Given the description of an element on the screen output the (x, y) to click on. 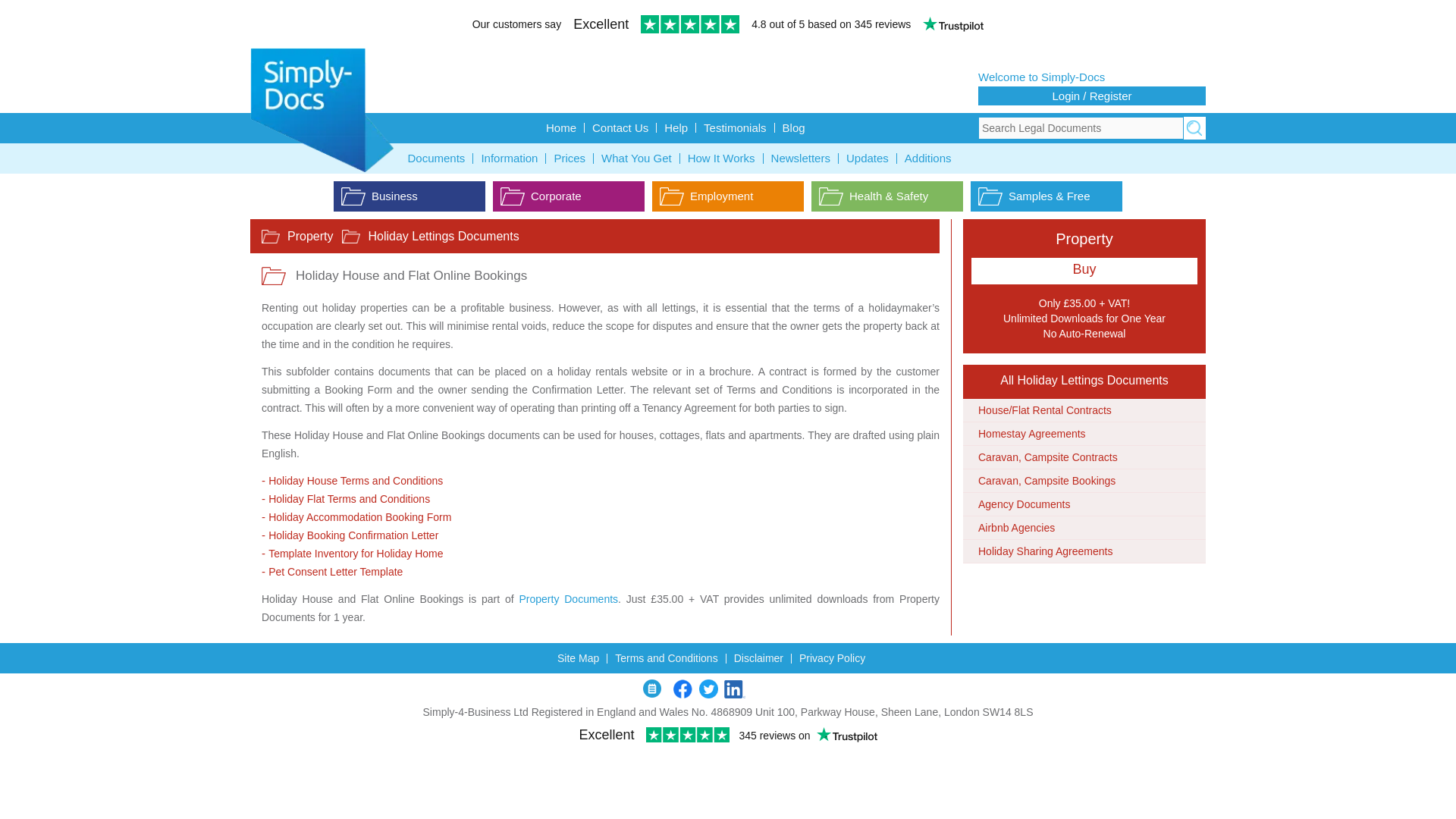
Contact Us (620, 127)
Help (675, 127)
Blog (793, 127)
Documents (437, 158)
Customer reviews powered by Trustpilot (727, 25)
Testimonials (734, 127)
Home (561, 127)
